Given the description of an element on the screen output the (x, y) to click on. 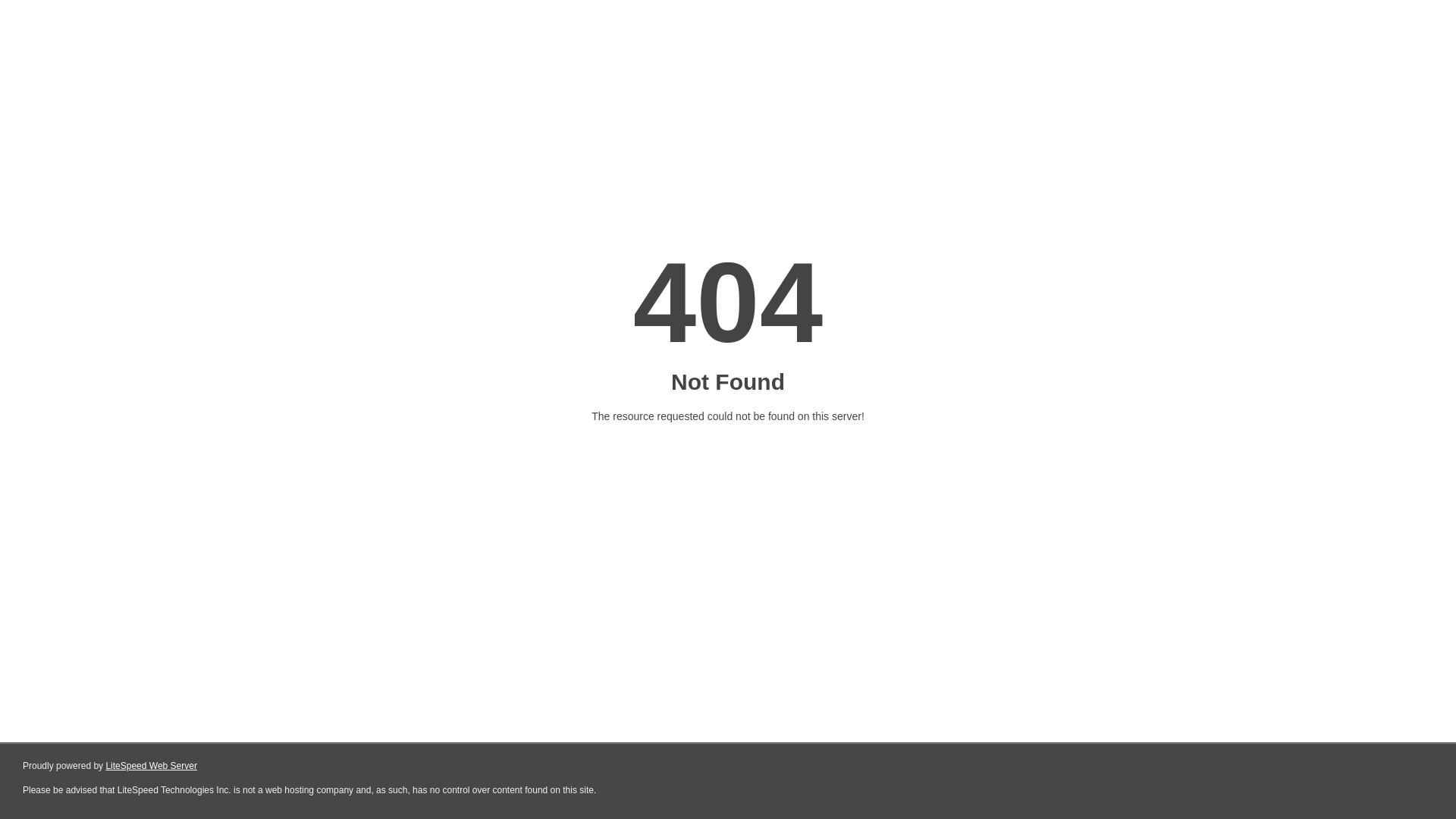
LiteSpeed Web Server Element type: text (151, 765)
